Given the description of an element on the screen output the (x, y) to click on. 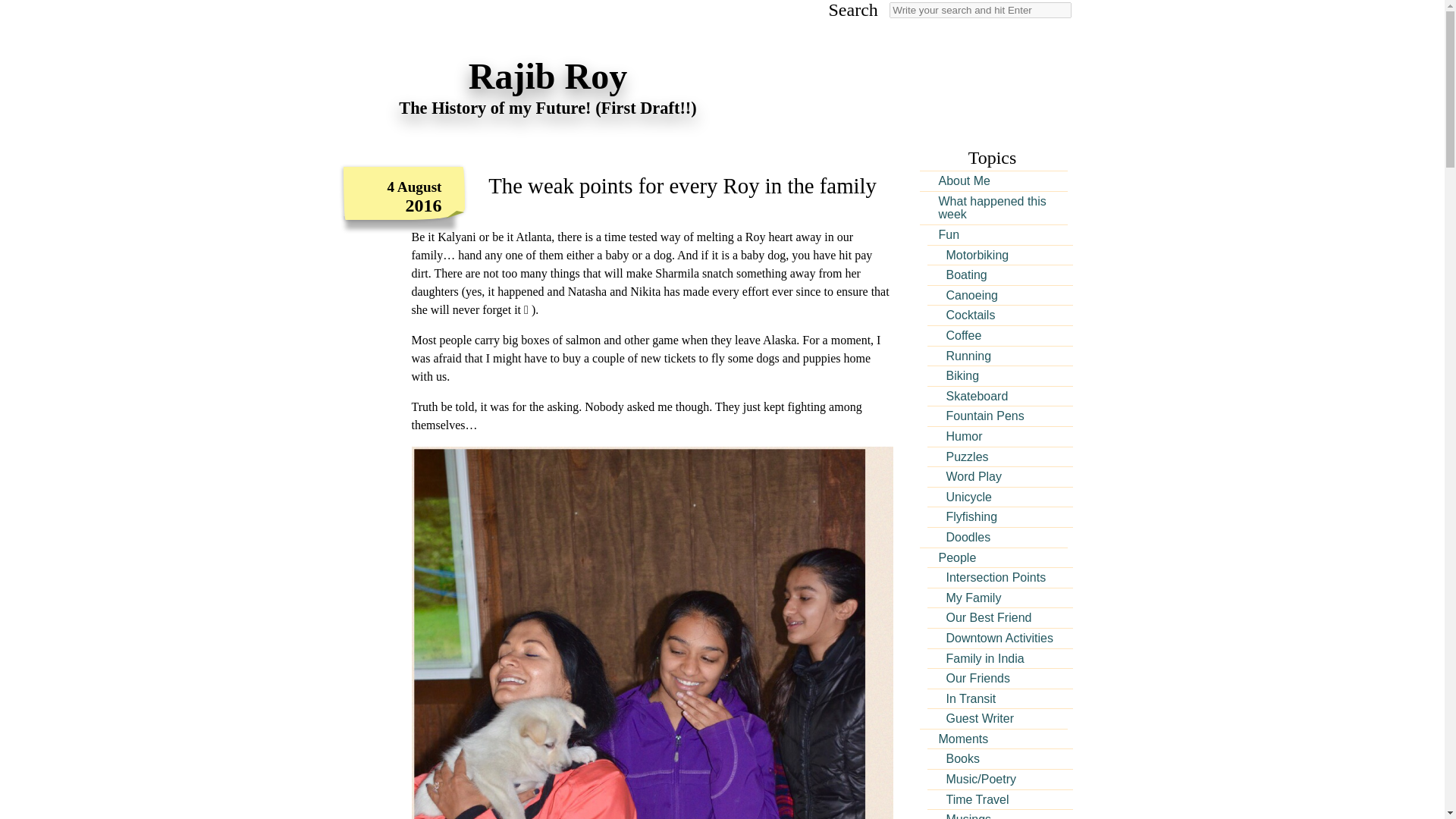
Search (980, 10)
Search (21, 7)
Rajib Roy (547, 67)
